Given the description of an element on the screen output the (x, y) to click on. 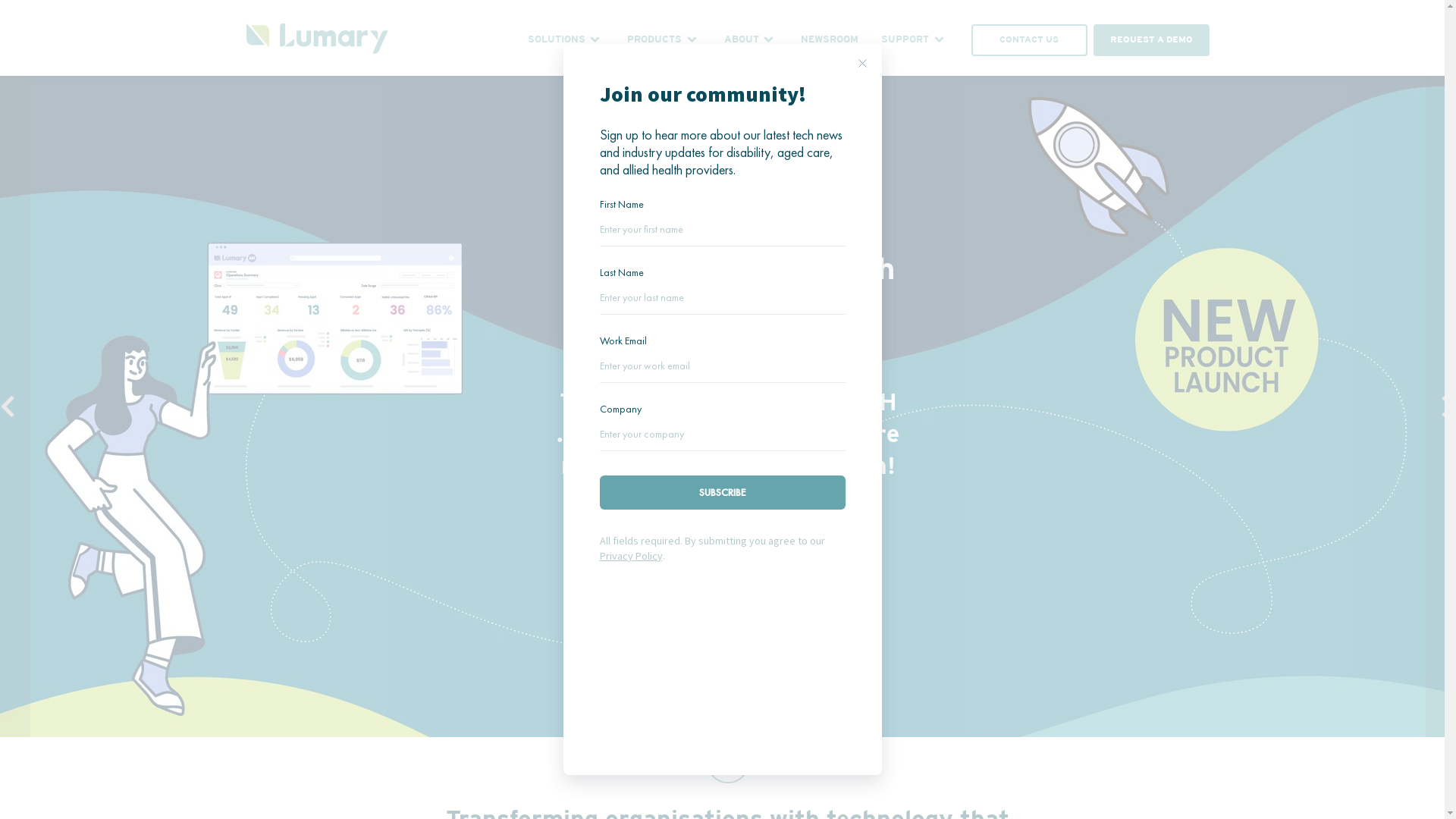
NEWSROOM Element type: text (829, 40)
REQUEST A DEMO Element type: text (1151, 40)
Group Created with Sketch. Element type: text (317, 40)
CONTACT US Element type: text (1029, 40)
LEARN MORE Element type: text (727, 548)
